Given the description of an element on the screen output the (x, y) to click on. 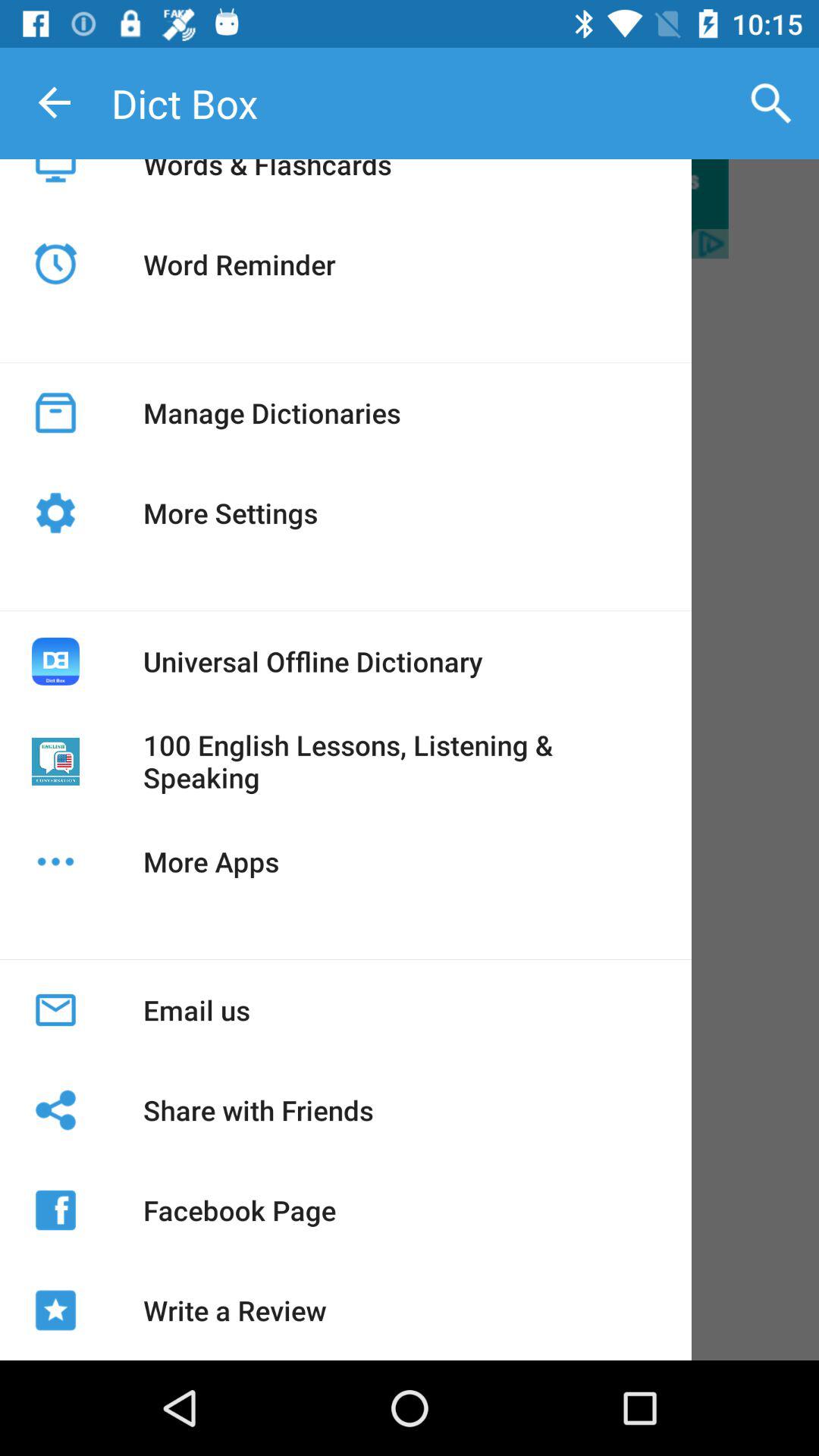
swipe to the more apps icon (211, 861)
